Given the description of an element on the screen output the (x, y) to click on. 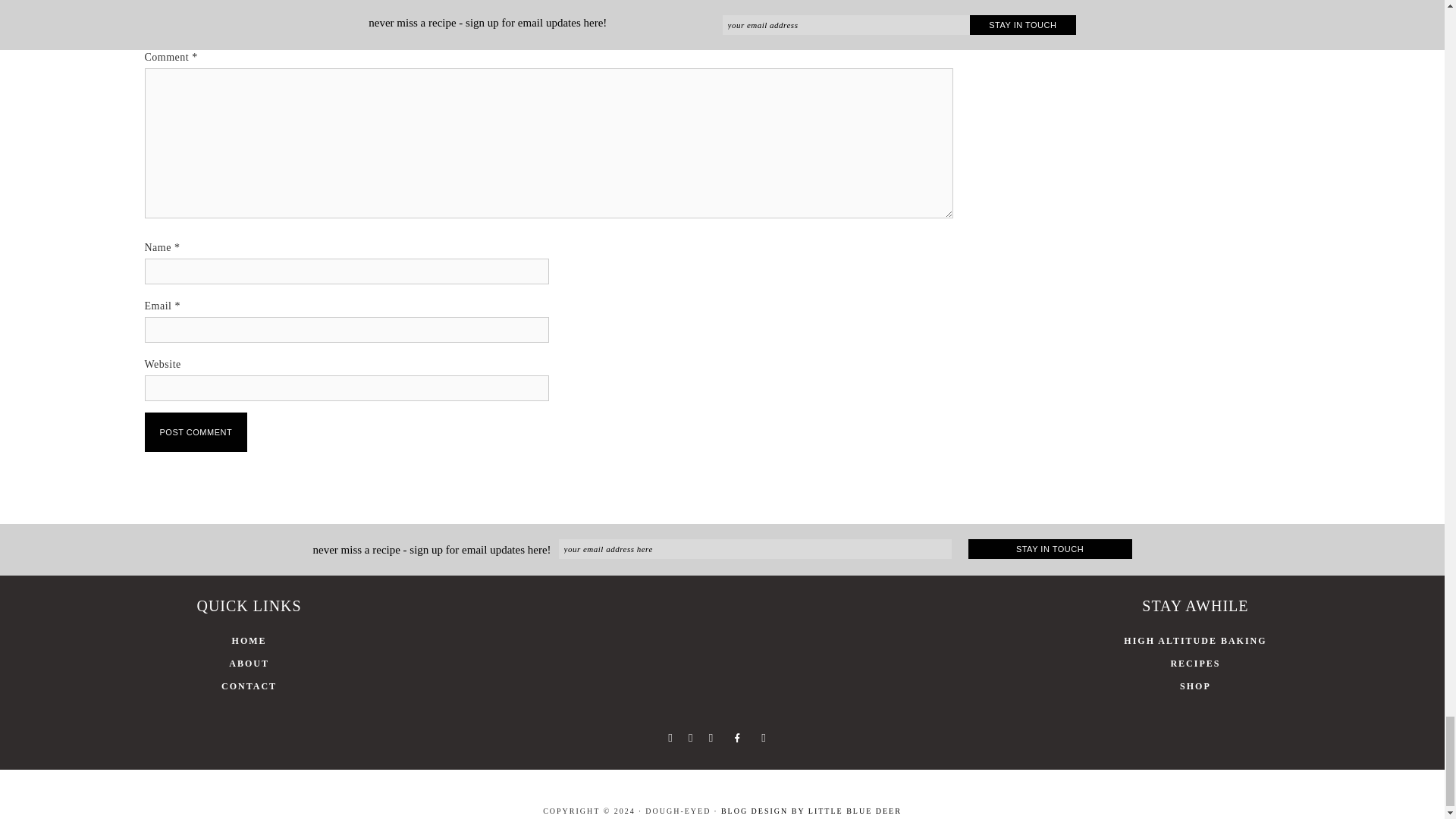
Facebook (669, 736)
Twitter (689, 736)
Stay in Touch (1049, 548)
Post Comment (195, 432)
Instagram (710, 736)
